Given the description of an element on the screen output the (x, y) to click on. 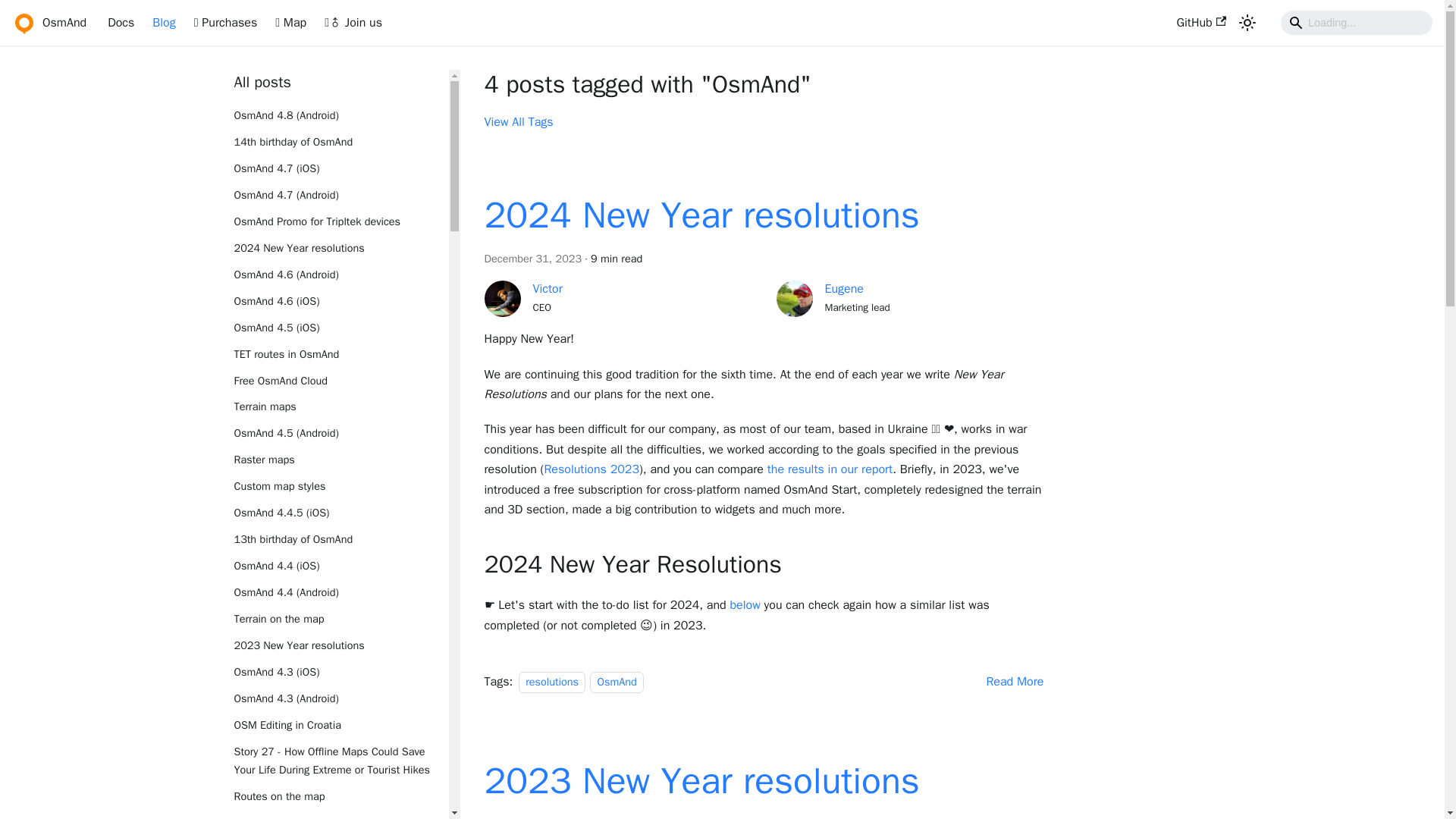
14th birthday of OsmAnd (340, 142)
Free OsmAnd Cloud (340, 381)
12 years with OsmAnd (340, 816)
Blog (163, 22)
2023 New Year resolutions (340, 646)
Terrain on the map (340, 619)
OsmAnd (48, 22)
GitHub (1200, 22)
13th birthday of OsmAnd (340, 539)
TET routes in OsmAnd (340, 354)
Terrain maps (340, 407)
Raster maps (340, 460)
2024 New Year resolutions (340, 248)
OsmAnd Promo for Tripltek devices (340, 221)
